Given the description of an element on the screen output the (x, y) to click on. 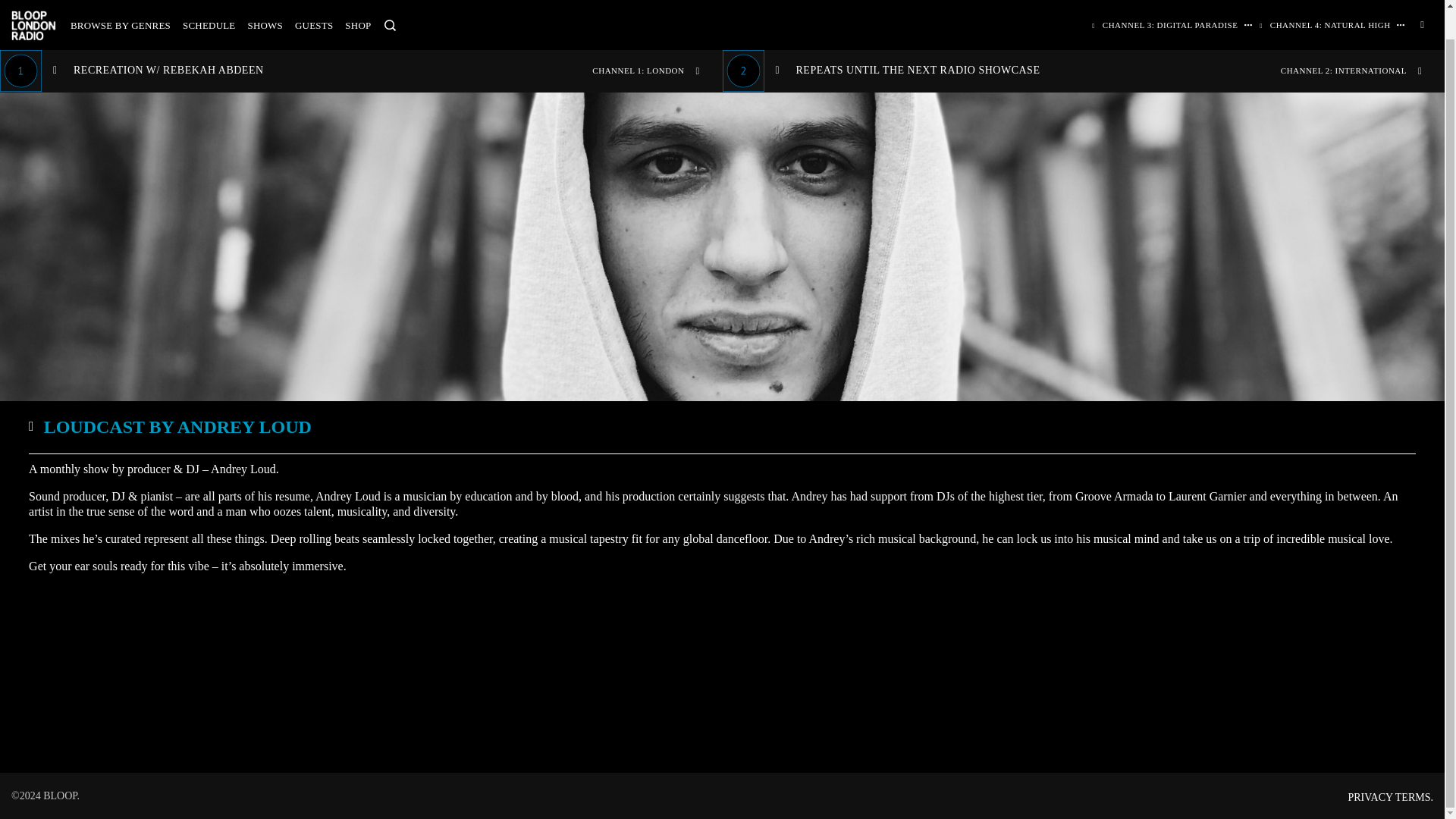
PRIVACY TERMS. (1390, 797)
SCHEDULE (208, 0)
BROWSE BY GENRES (120, 0)
SHOP (358, 0)
SHOWS (265, 0)
GUESTS (313, 0)
